Given the description of an element on the screen output the (x, y) to click on. 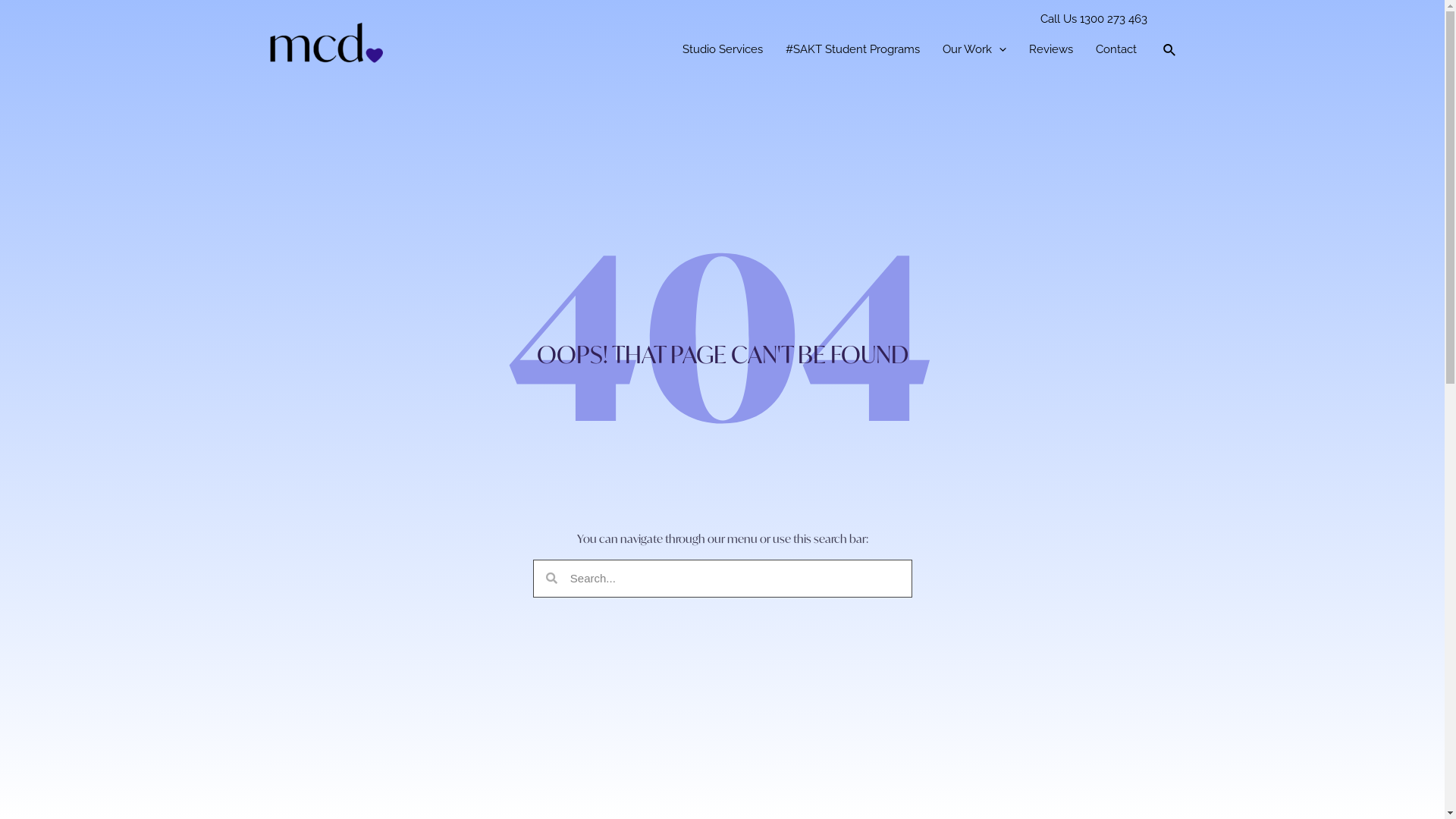
#SAKT Student Programs Element type: text (852, 49)
Studio Services Element type: text (722, 49)
Reviews Element type: text (1050, 49)
Call Us 1300 273 463 Element type: text (1093, 19)
Contact Element type: text (1116, 49)
Search Element type: hover (733, 577)
Our Work Element type: text (974, 49)
